Given the description of an element on the screen output the (x, y) to click on. 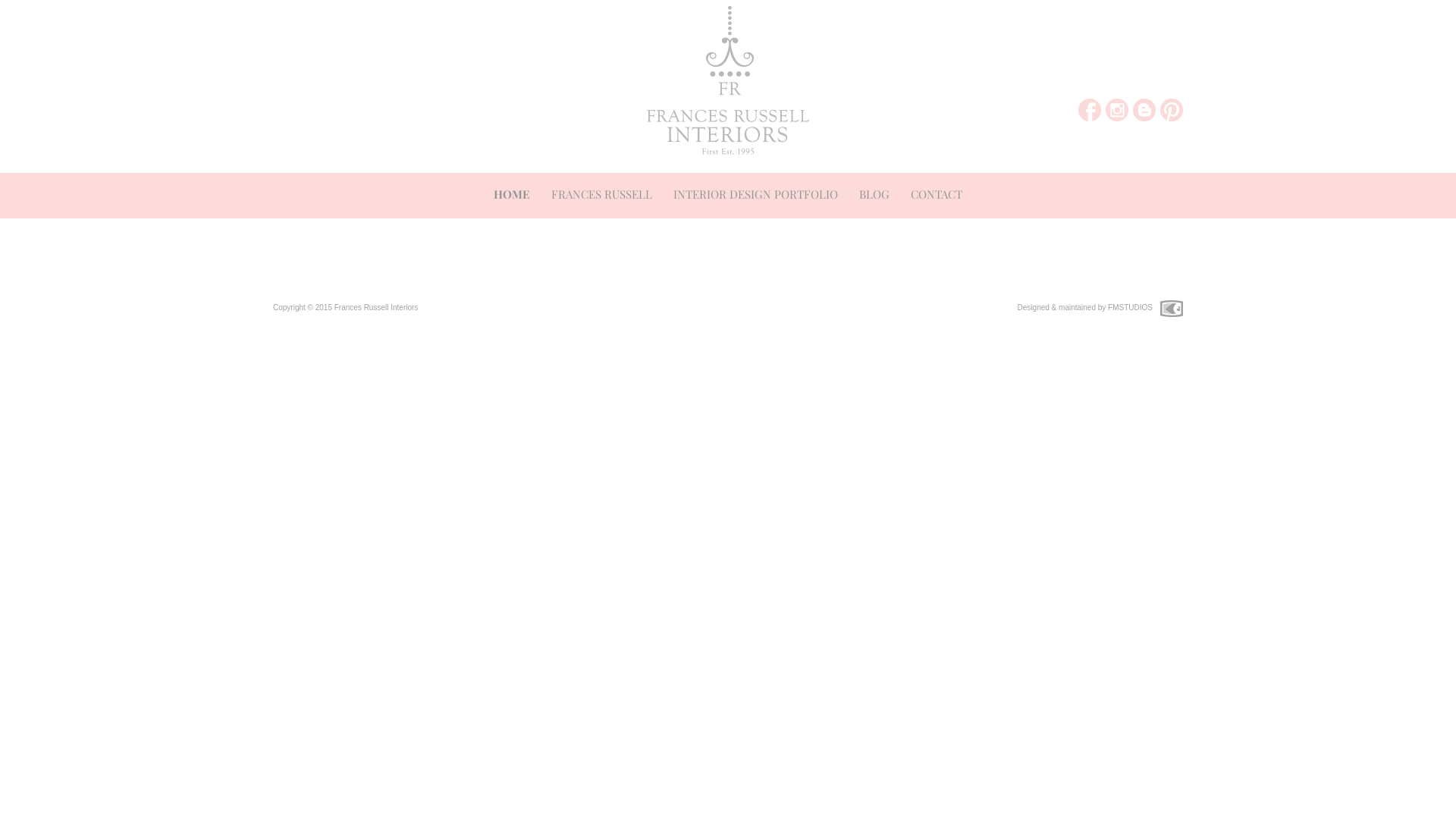
FMSTUDIOS Element type: text (1129, 307)
Frances Russell Interiors Element type: text (376, 307)
FRANCES RUSSELL Element type: text (601, 195)
BLOG Element type: text (874, 195)
CONTACT Element type: text (936, 195)
HOME Element type: text (511, 195)
INTERIOR DESIGN PORTFOLIO Element type: text (755, 195)
